Given the description of an element on the screen output the (x, y) to click on. 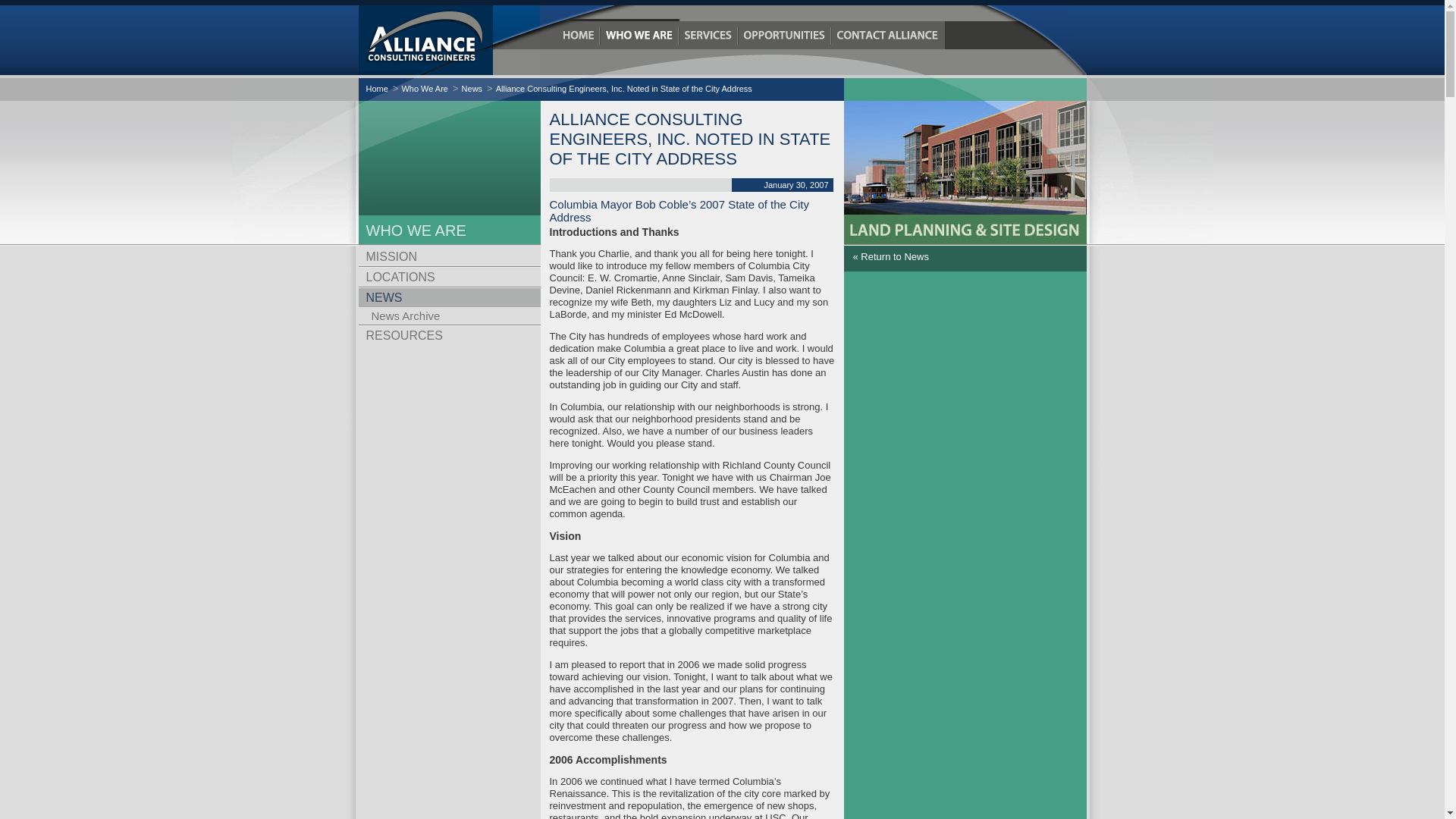
Home (577, 35)
Return Home (577, 35)
Who We Are (639, 35)
Services (708, 35)
Opportunities (784, 35)
Services (708, 35)
Who We Are (639, 35)
Return Home (448, 39)
